Given the description of an element on the screen output the (x, y) to click on. 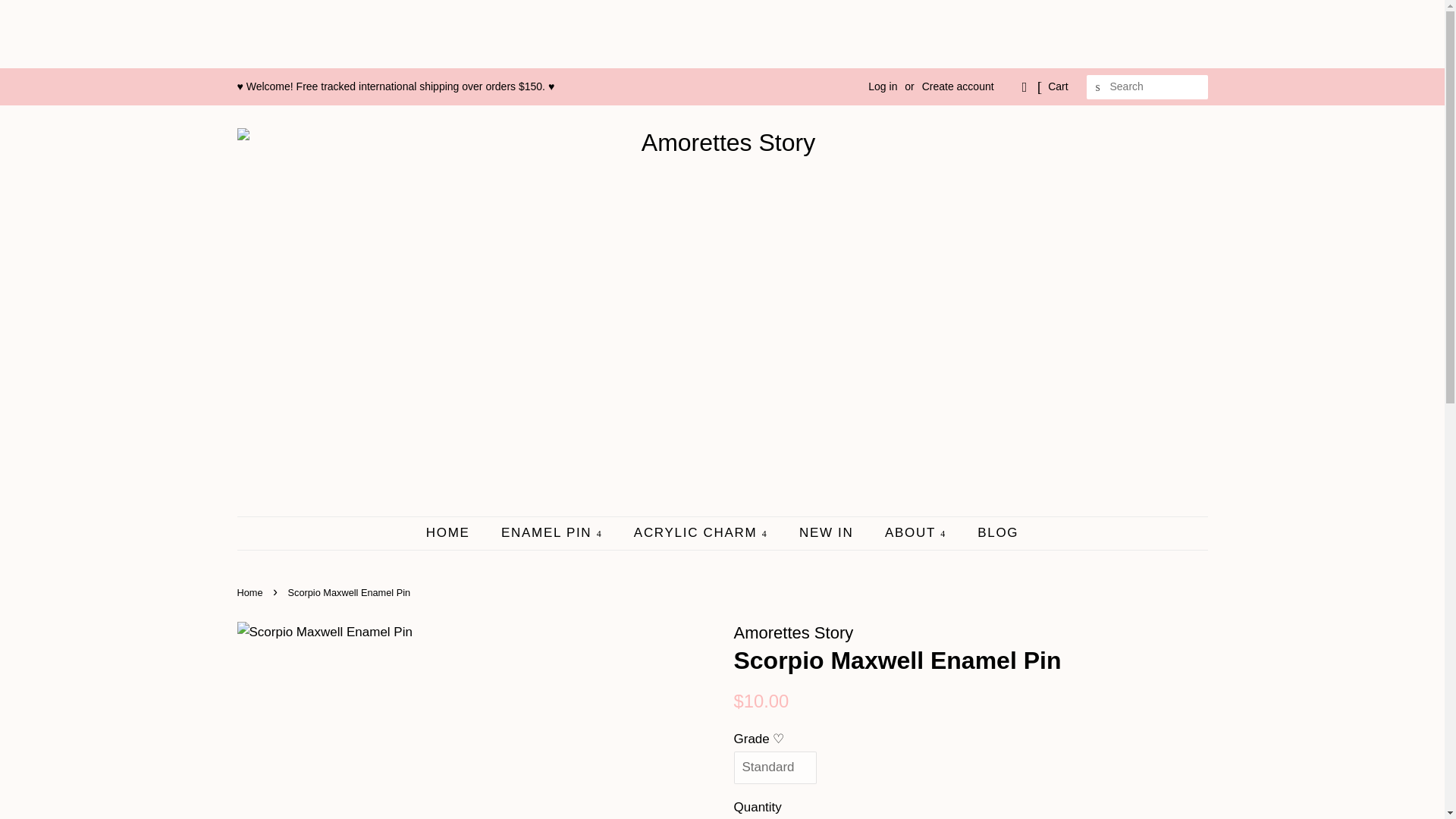
Back to the frontpage (250, 592)
Cart (1057, 86)
Log in (881, 86)
HOME (455, 532)
ENAMEL PIN (553, 532)
SEARCH (1097, 87)
Create account (957, 86)
